Given the description of an element on the screen output the (x, y) to click on. 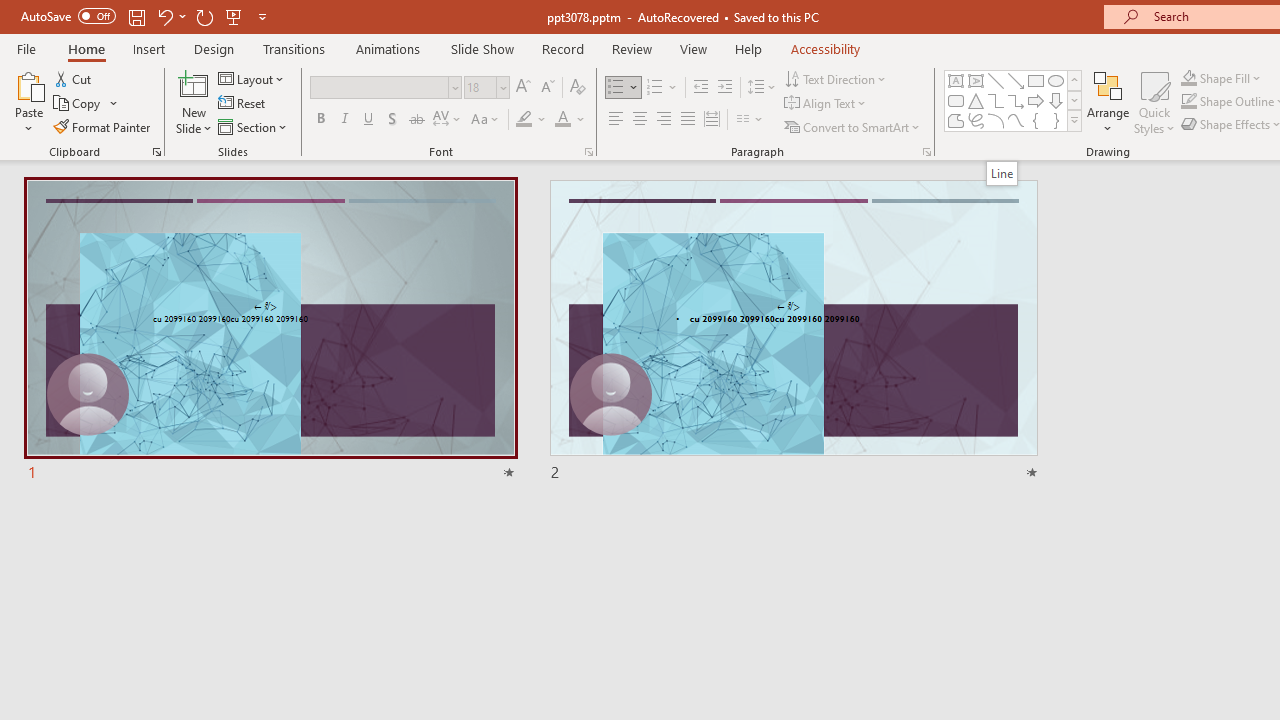
Format Painter (103, 126)
Layout (252, 78)
Columns (750, 119)
Left Brace (1035, 120)
Decrease Font Size (547, 87)
Font... (588, 151)
Clear Formatting (577, 87)
Align Left (616, 119)
